Given the description of an element on the screen output the (x, y) to click on. 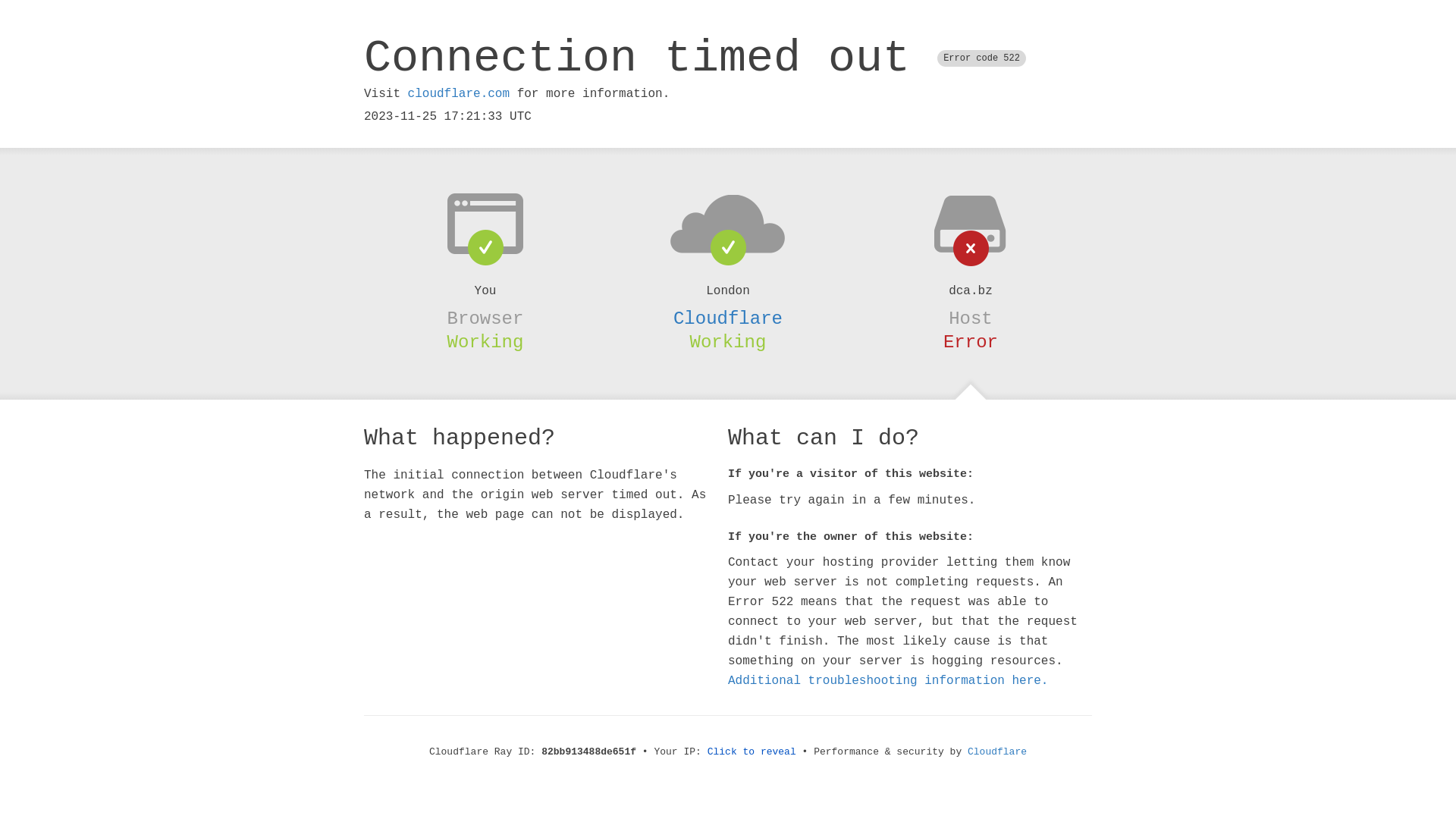
cloudflare.com Element type: text (458, 93)
Click to reveal Element type: text (751, 751)
Additional troubleshooting information here. Element type: text (888, 680)
Cloudflare Element type: text (996, 751)
Cloudflare Element type: text (727, 318)
